Given the description of an element on the screen output the (x, y) to click on. 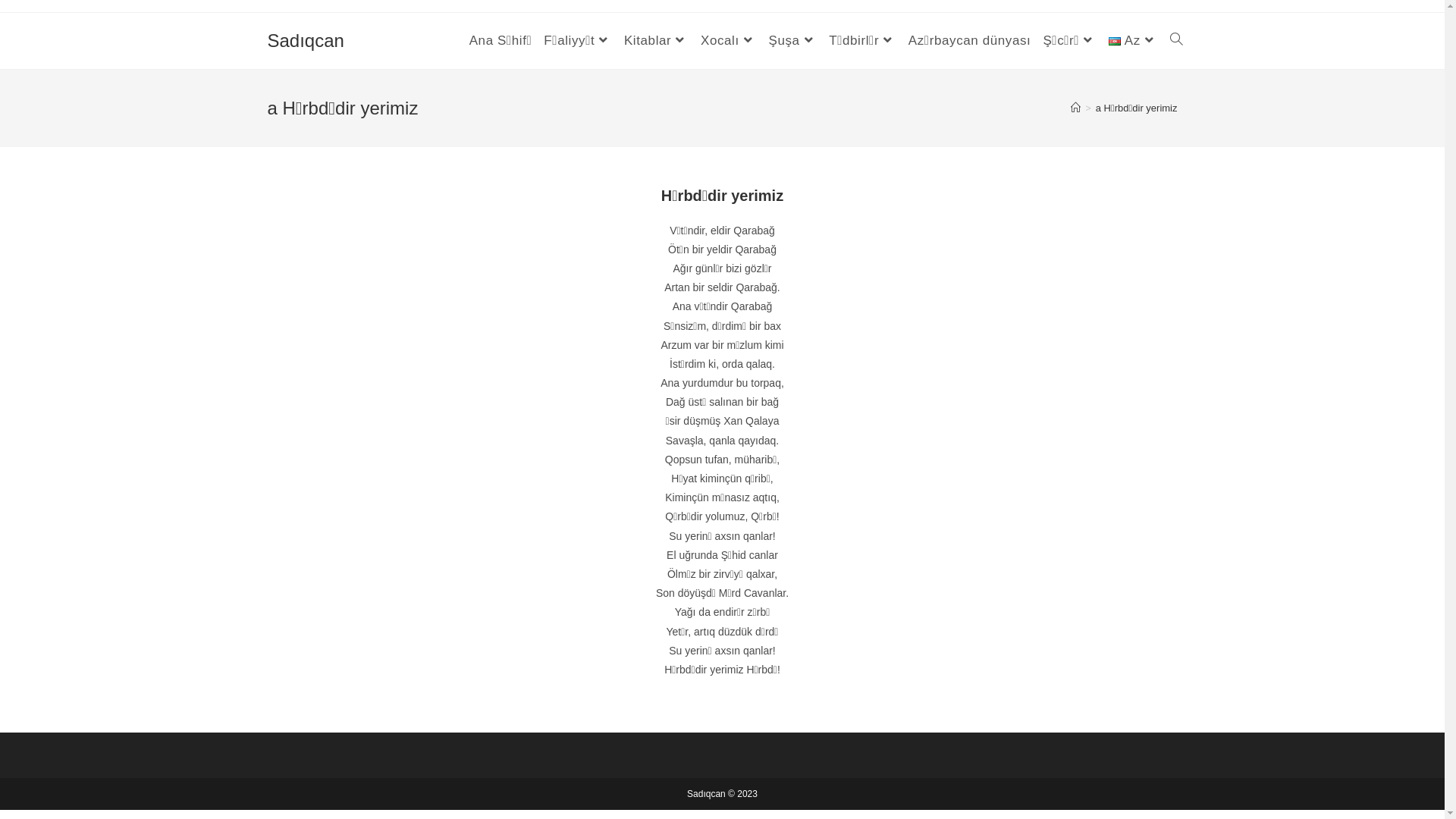
Toggle website search Element type: text (1175, 40)
Kitablar Element type: text (656, 40)
Az Element type: text (1133, 40)
